Given the description of an element on the screen output the (x, y) to click on. 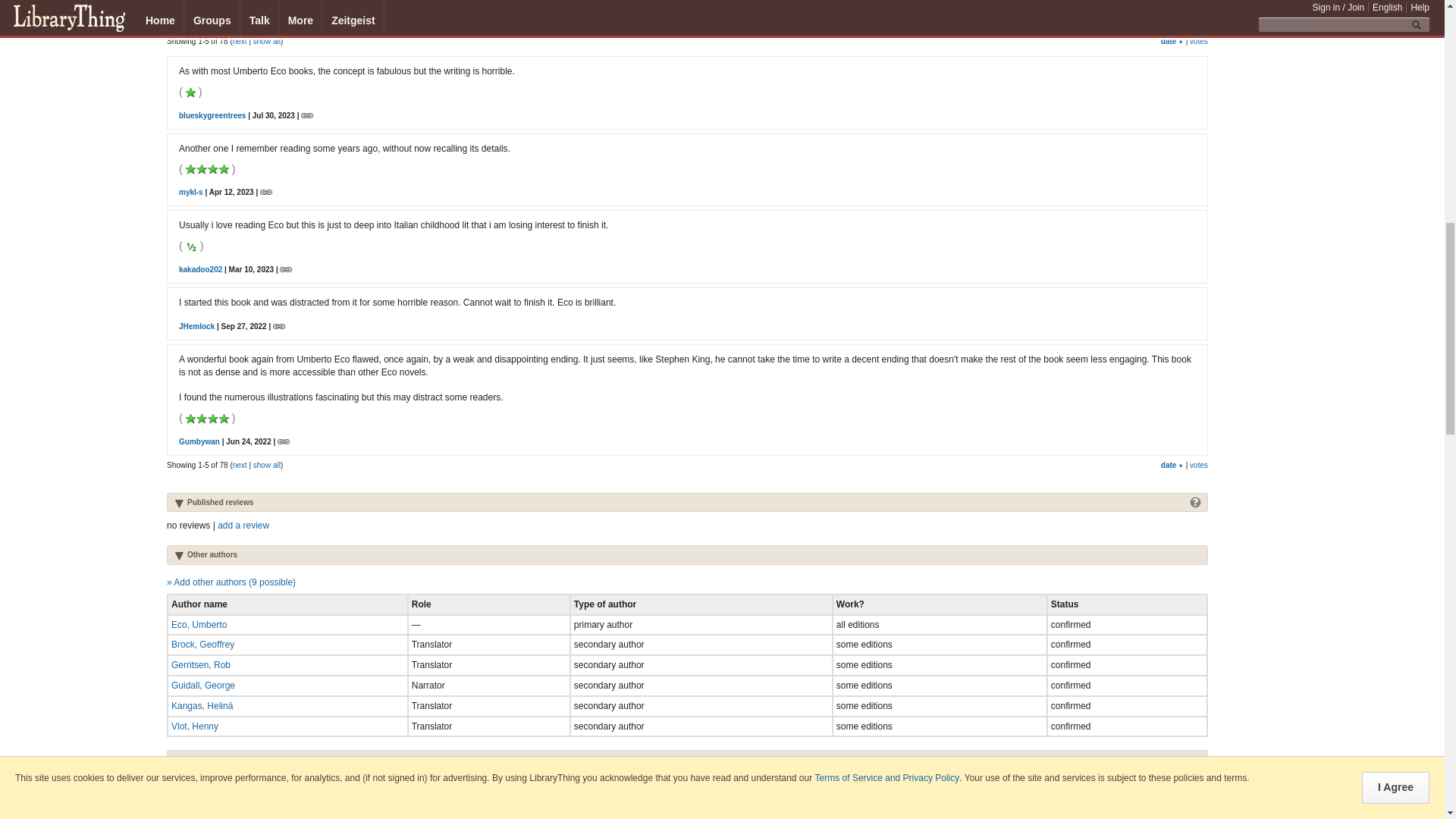
Help (1195, 501)
